Given the description of an element on the screen output the (x, y) to click on. 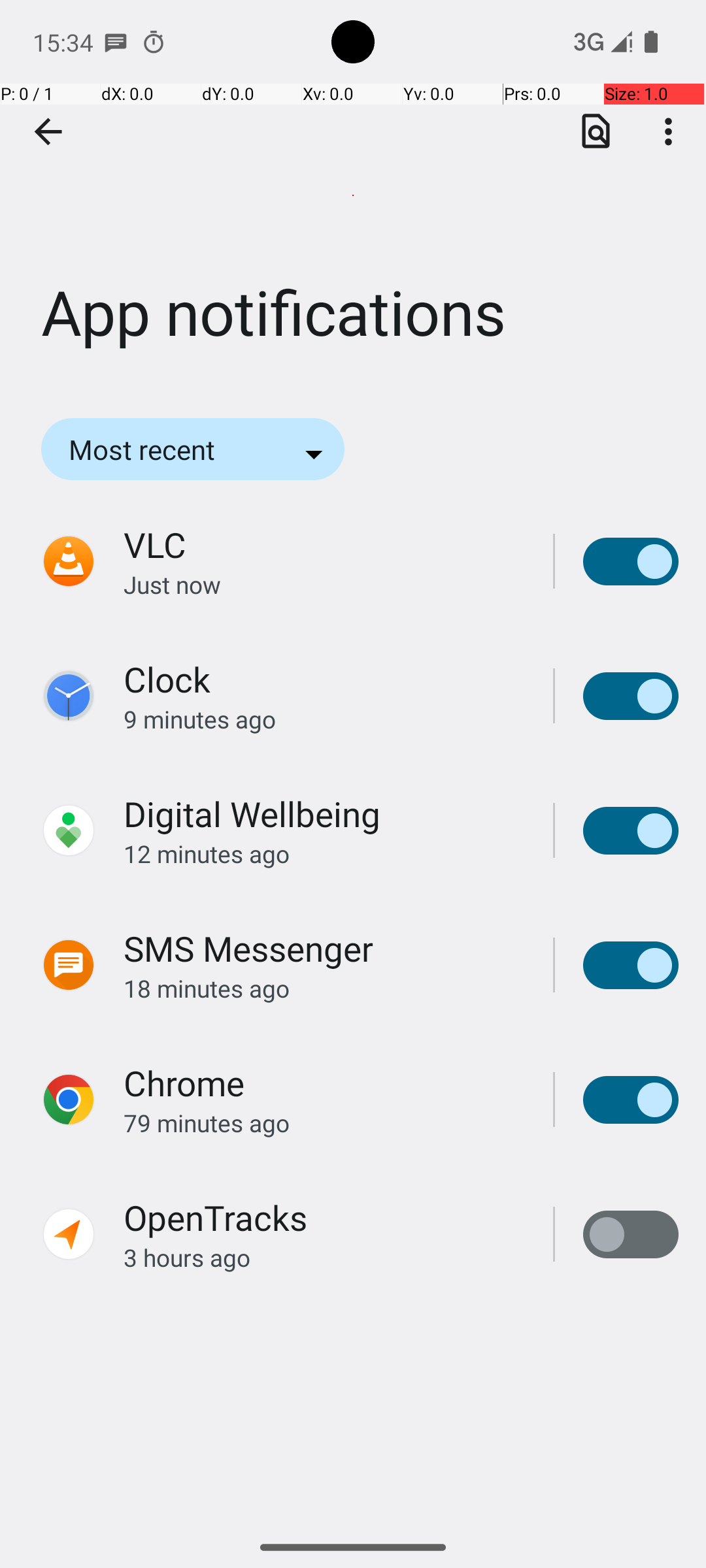
App notifications Element type: android.widget.FrameLayout (353, 195)
Most recent Element type: android.widget.TextView (159, 448)
Just now Element type: android.widget.TextView (324, 584)
9 minutes ago Element type: android.widget.TextView (324, 718)
12 minutes ago Element type: android.widget.TextView (324, 853)
18 minutes ago Element type: android.widget.TextView (324, 987)
79 minutes ago Element type: android.widget.TextView (324, 1122)
3 hours ago Element type: android.widget.TextView (324, 1257)
